Given the description of an element on the screen output the (x, y) to click on. 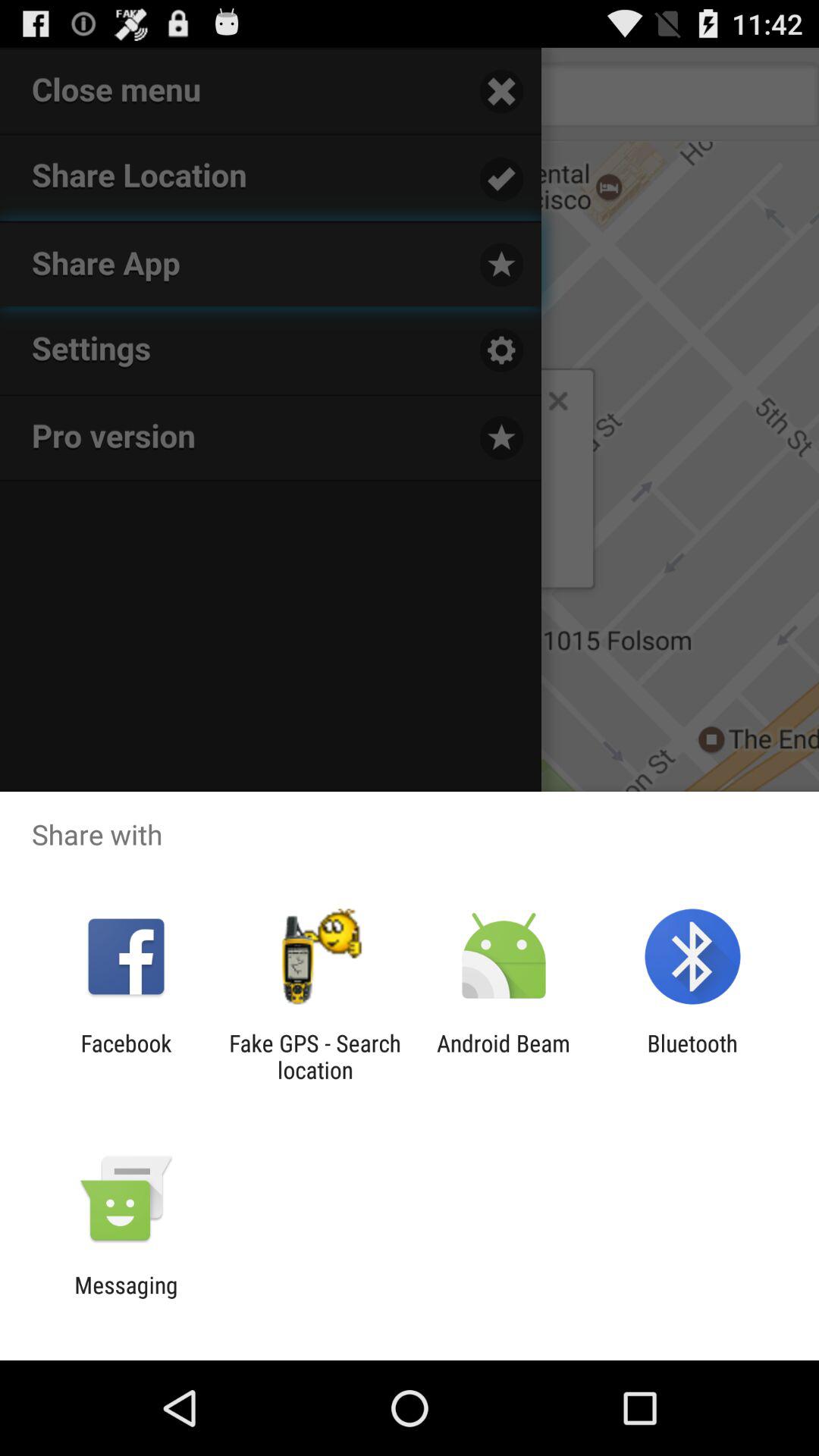
choose the messaging app (126, 1298)
